Given the description of an element on the screen output the (x, y) to click on. 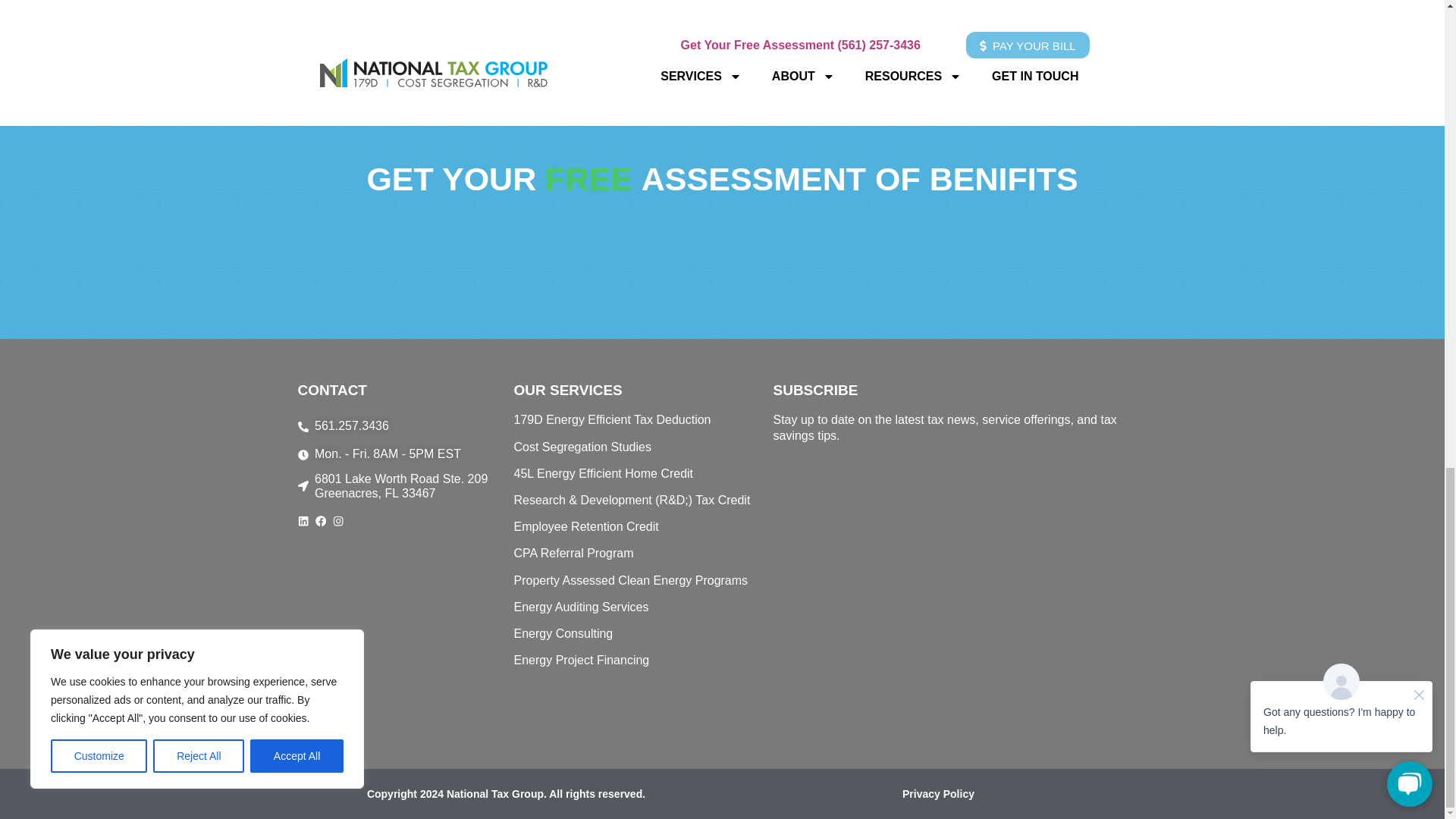
Form 0 (958, 597)
